Given the description of an element on the screen output the (x, y) to click on. 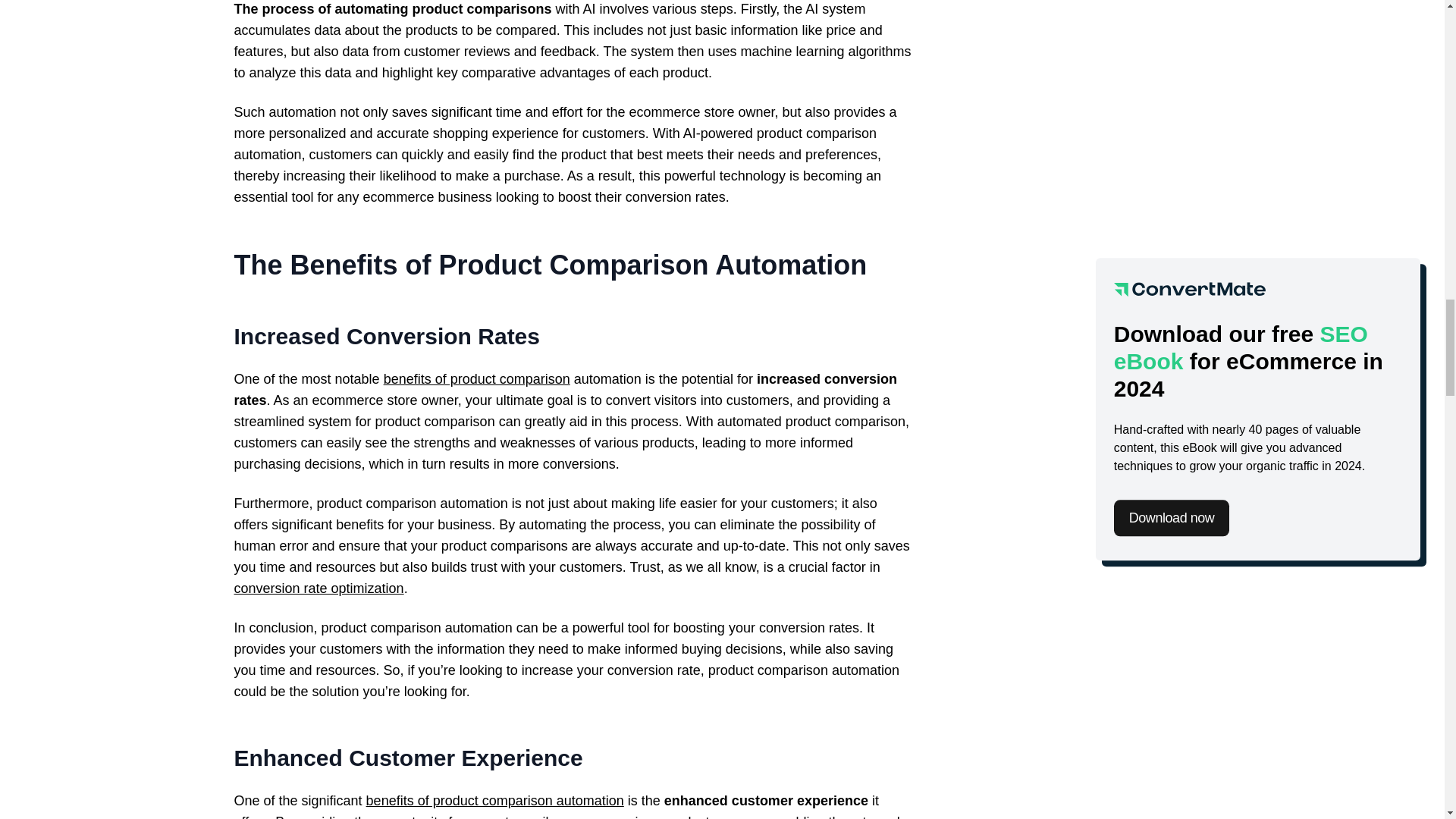
Benefits Of Product Comparison (477, 378)
Benefits Of Product Comparison Automation (495, 800)
Conversion Rate Optimization (317, 588)
